Given the description of an element on the screen output the (x, y) to click on. 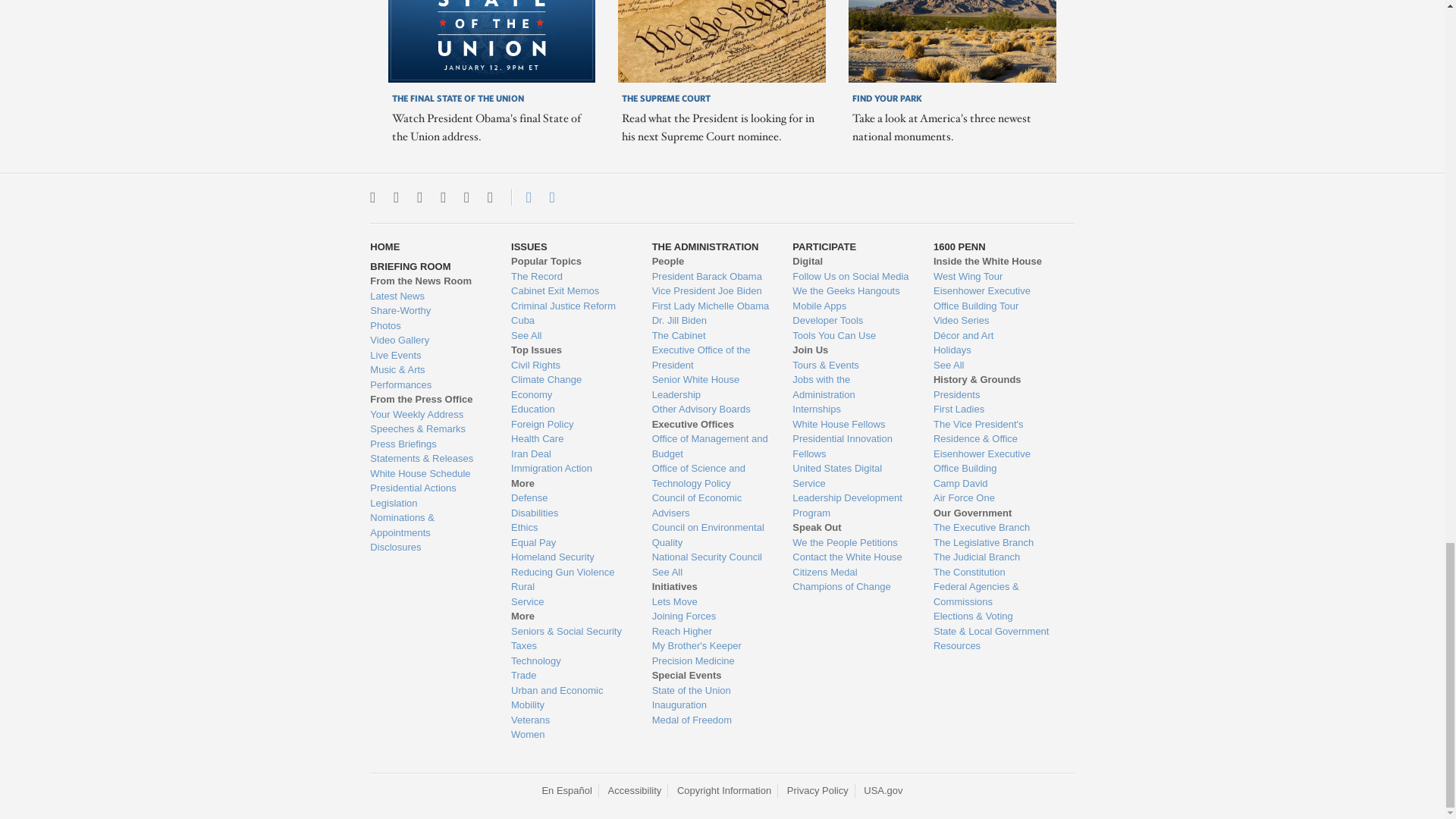
Contact the Whitehouse. (521, 197)
